Given the description of an element on the screen output the (x, y) to click on. 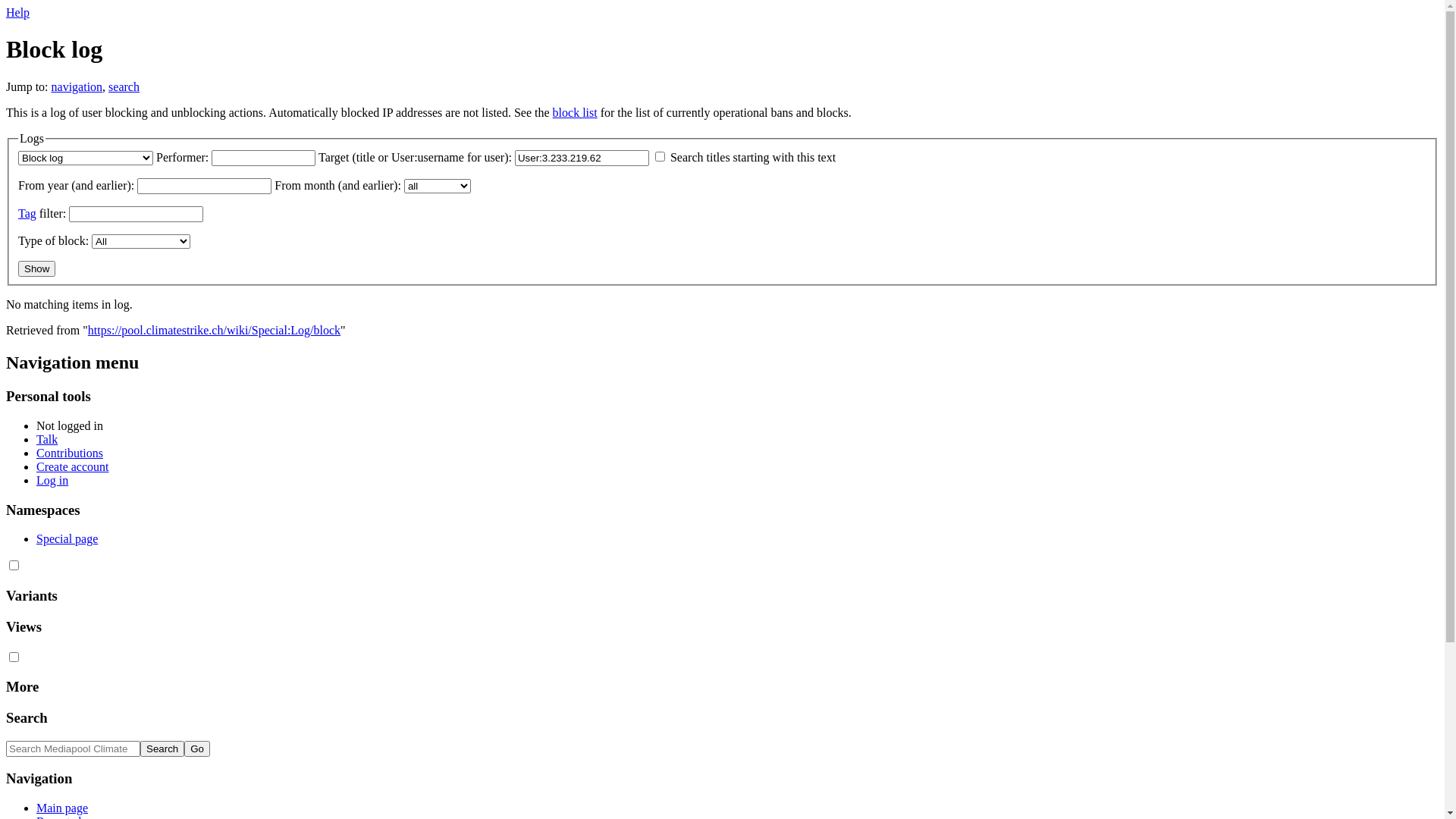
Show Element type: text (36, 268)
block list Element type: text (574, 112)
Main page Element type: text (61, 807)
Contributions Element type: text (69, 452)
Search Element type: text (162, 748)
Special page Element type: text (66, 538)
Help Element type: text (17, 12)
Search the pages for this text Element type: hover (162, 748)
Tag Element type: text (27, 213)
Log in Element type: text (52, 479)
search Element type: text (123, 86)
https://pool.climatestrike.ch/wiki/Special:Log/block Element type: text (213, 329)
Create account Element type: text (72, 466)
Go to a page with this exact name if it exists Element type: hover (197, 748)
Talk Element type: text (46, 439)
Search Mediapool Climatestrike Switzerland [f] Element type: hover (73, 748)
navigation Element type: text (77, 86)
Go Element type: text (197, 748)
